Given the description of an element on the screen output the (x, y) to click on. 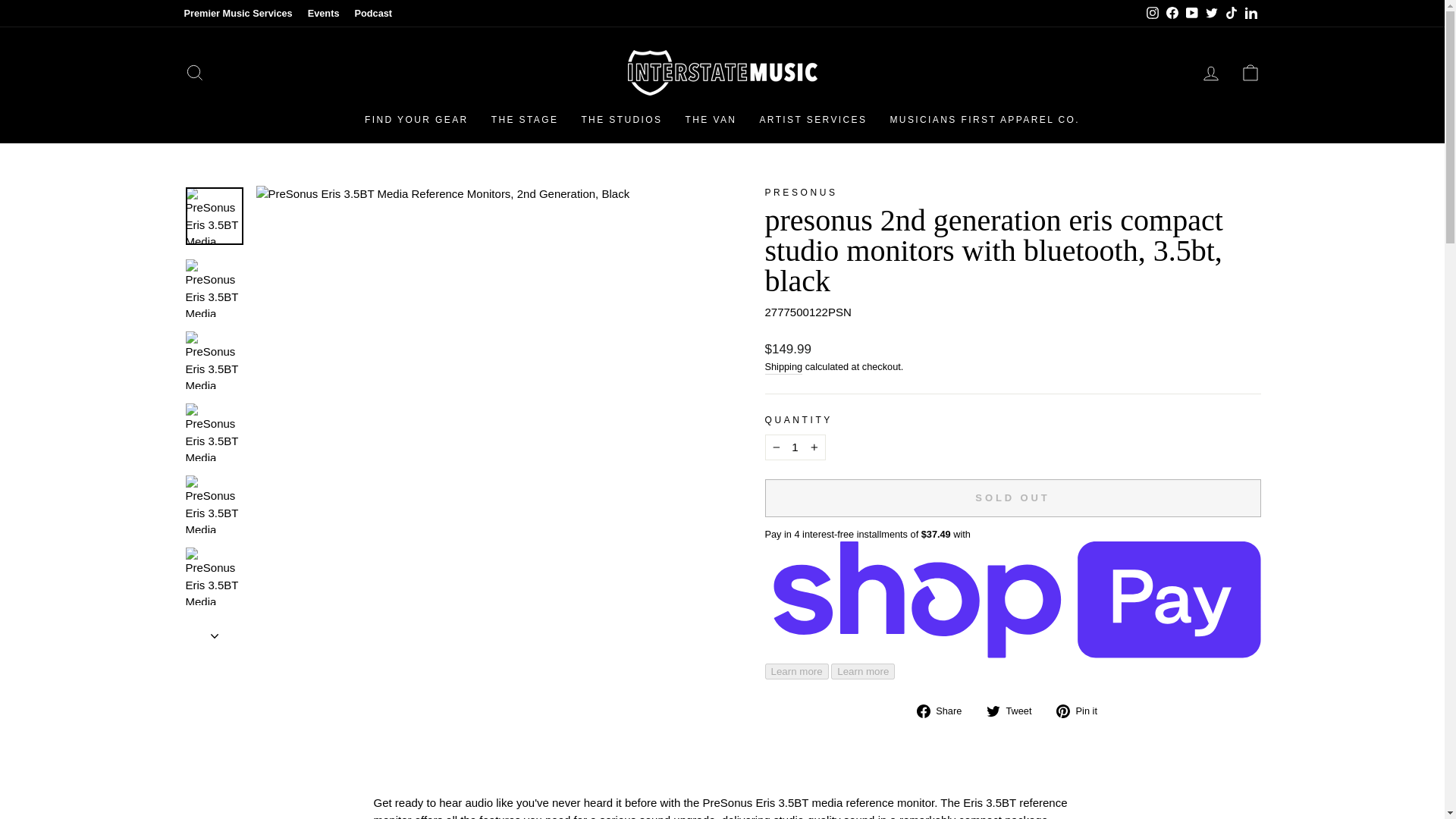
Interstate Music on Twitter (1211, 13)
Share on Facebook (944, 710)
1 (794, 447)
Events (323, 13)
Premier Music Services (237, 13)
Interstate Music on Facebook (1170, 13)
Interstate Music on LinkedIn (1250, 13)
Interstate Music on Instagram (1151, 13)
Interstate Music on YouTube (1190, 13)
Tweet on Twitter (1014, 710)
